Given the description of an element on the screen output the (x, y) to click on. 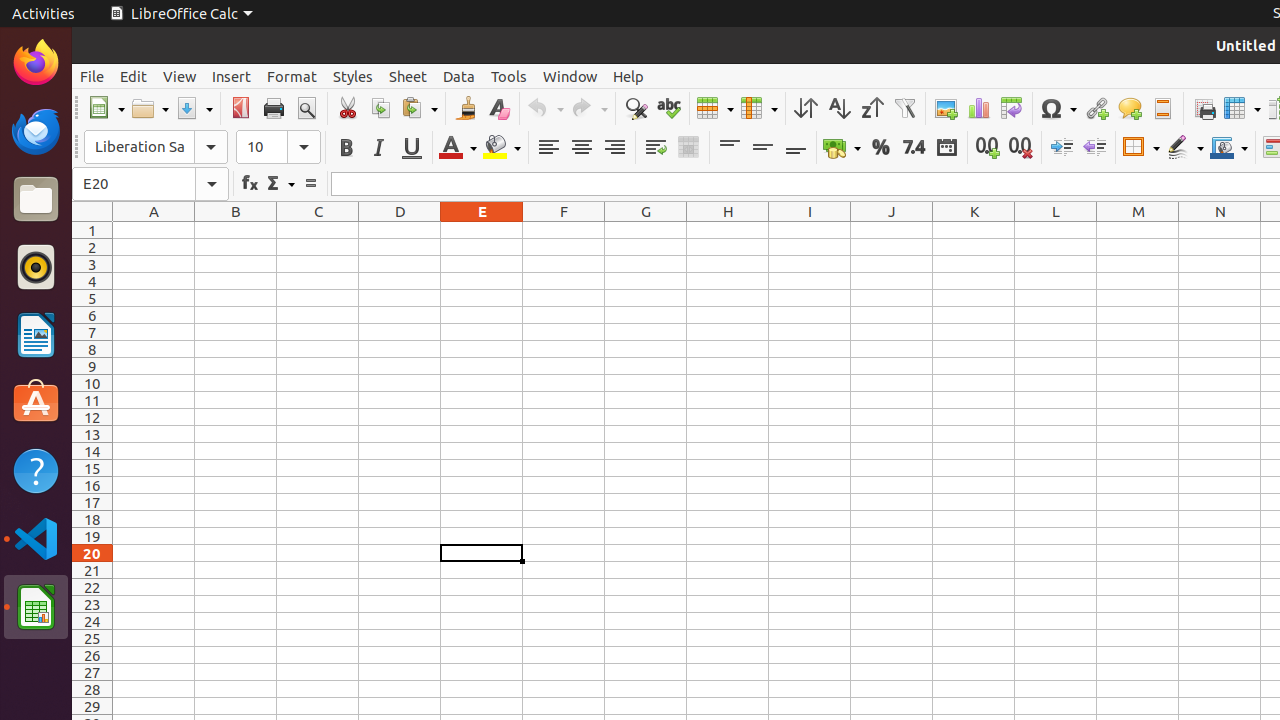
Delete Decimal Place Element type: push-button (1020, 147)
PDF Element type: push-button (240, 108)
Align Center Element type: push-button (581, 147)
Find & Replace Element type: toggle-button (635, 108)
Hyperlink Element type: toggle-button (1096, 108)
